Given the description of an element on the screen output the (x, y) to click on. 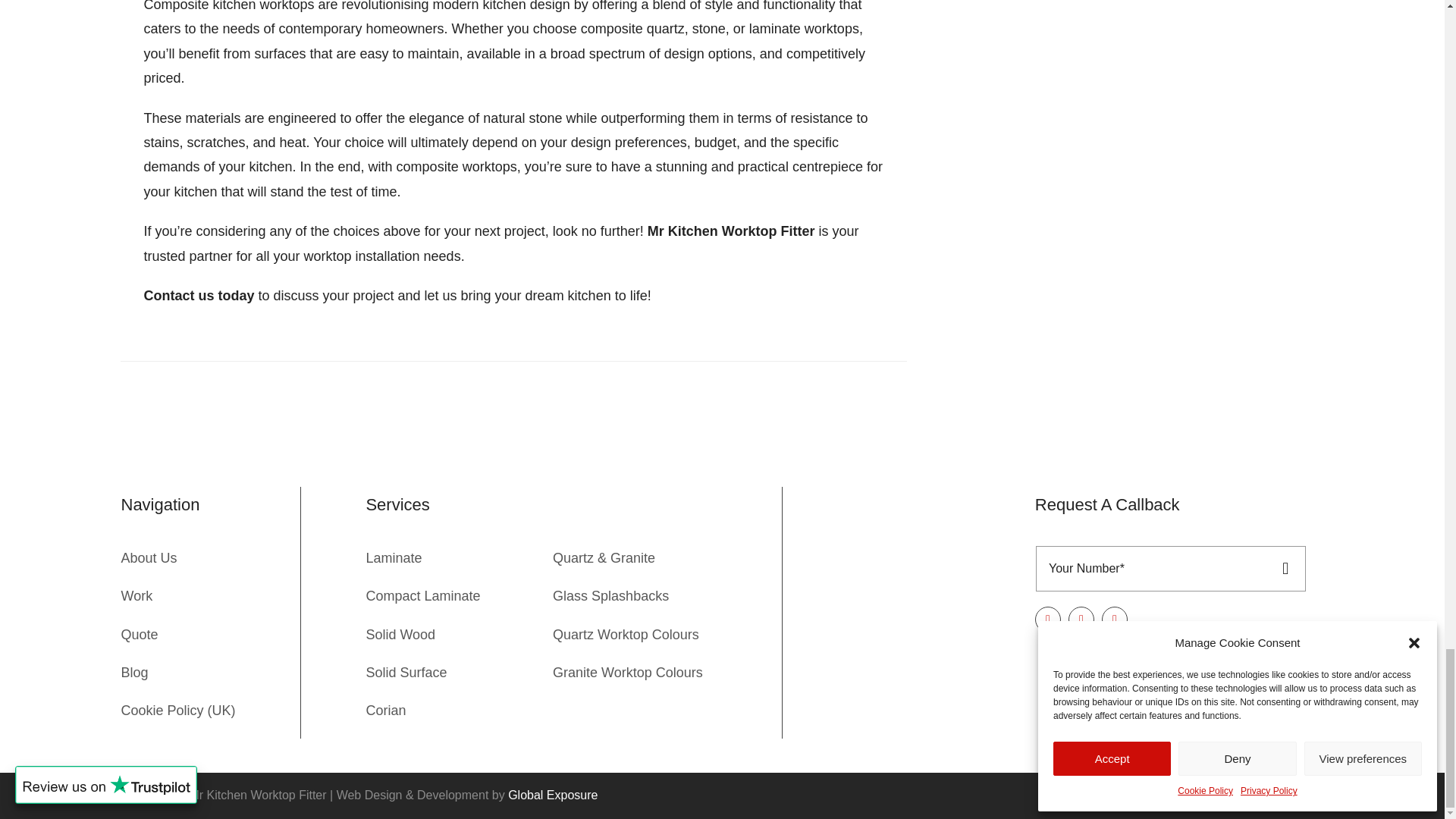
Only numbers and phone characters are accepted. (1147, 568)
